Given the description of an element on the screen output the (x, y) to click on. 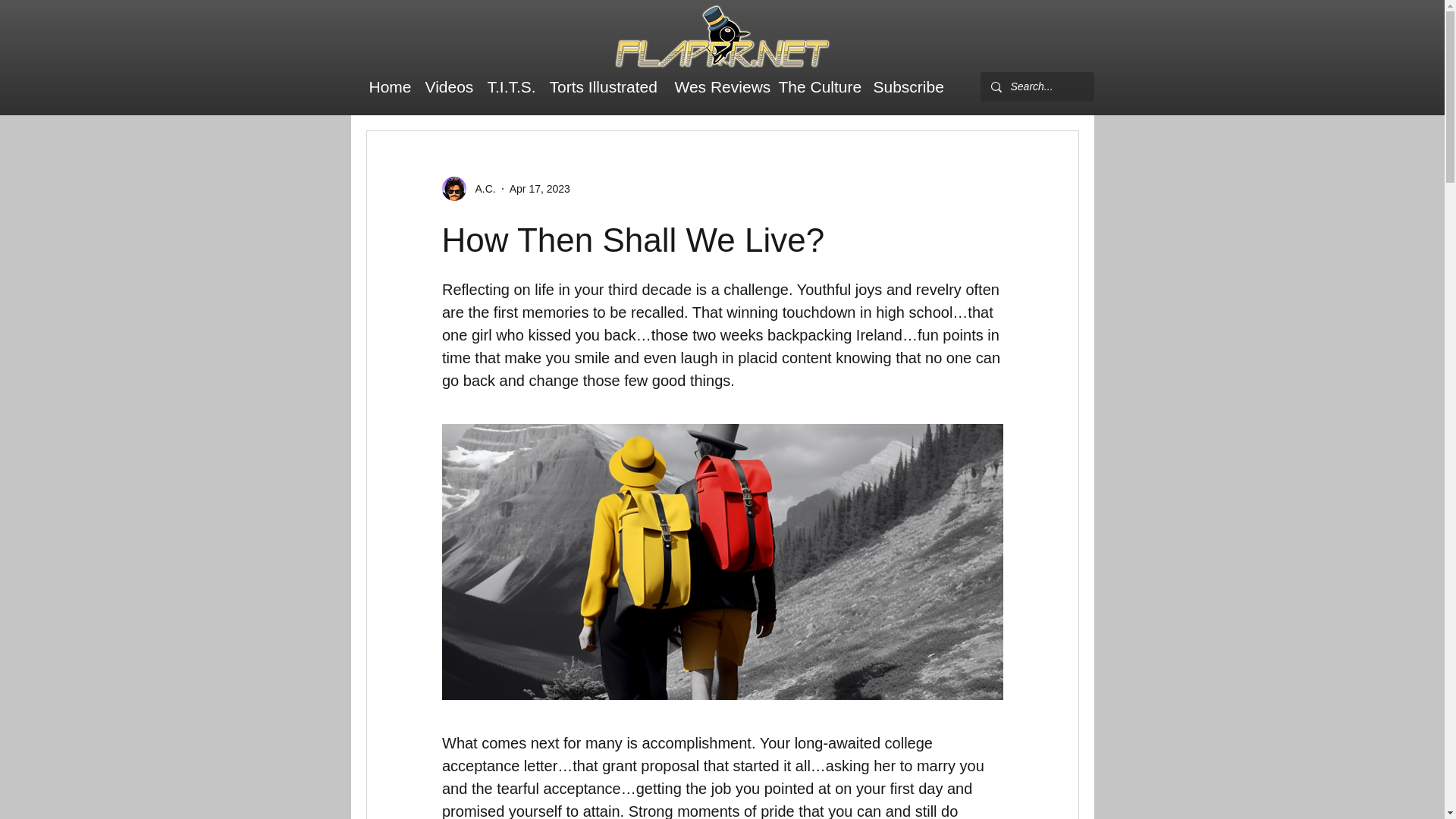
The Culture (817, 86)
Videos (447, 86)
Subscribe (907, 86)
Torts Illustrated (603, 86)
A.C. (480, 188)
A.C. (468, 188)
Home (388, 86)
T.I.T.S. (510, 86)
Wes Reviews (718, 86)
Apr 17, 2023 (539, 187)
